Given the description of an element on the screen output the (x, y) to click on. 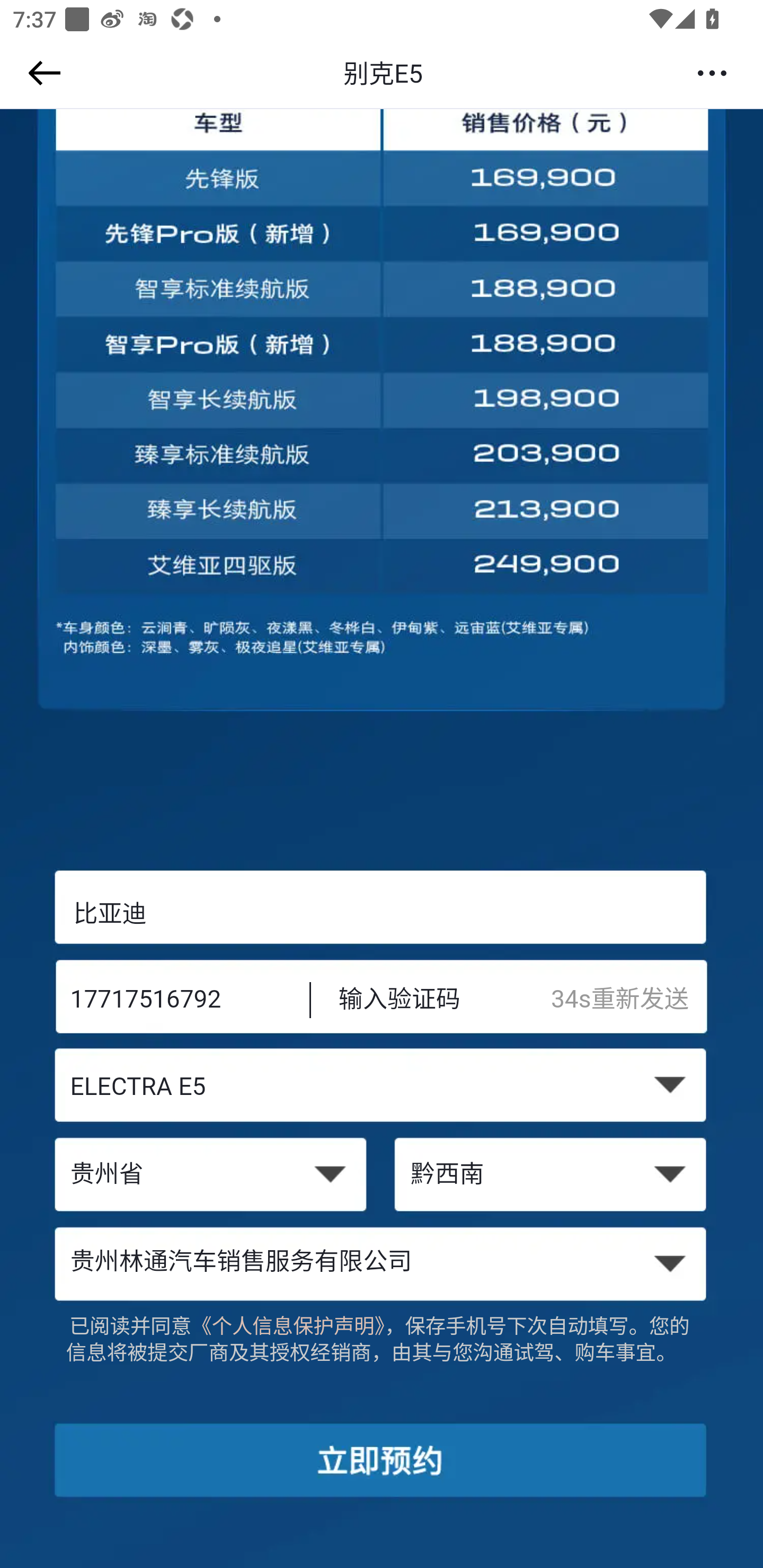
 (41, 72)
比亚迪 (381, 912)
17717516792 (176, 1001)
34s重新发送 (629, 1001)
ELECTRA E5 (381, 1088)
贵州省 (210, 1175)
黔西南 (552, 1175)
贵州林通汽车销售服务有限公司 (381, 1262)
